Given the description of an element on the screen output the (x, y) to click on. 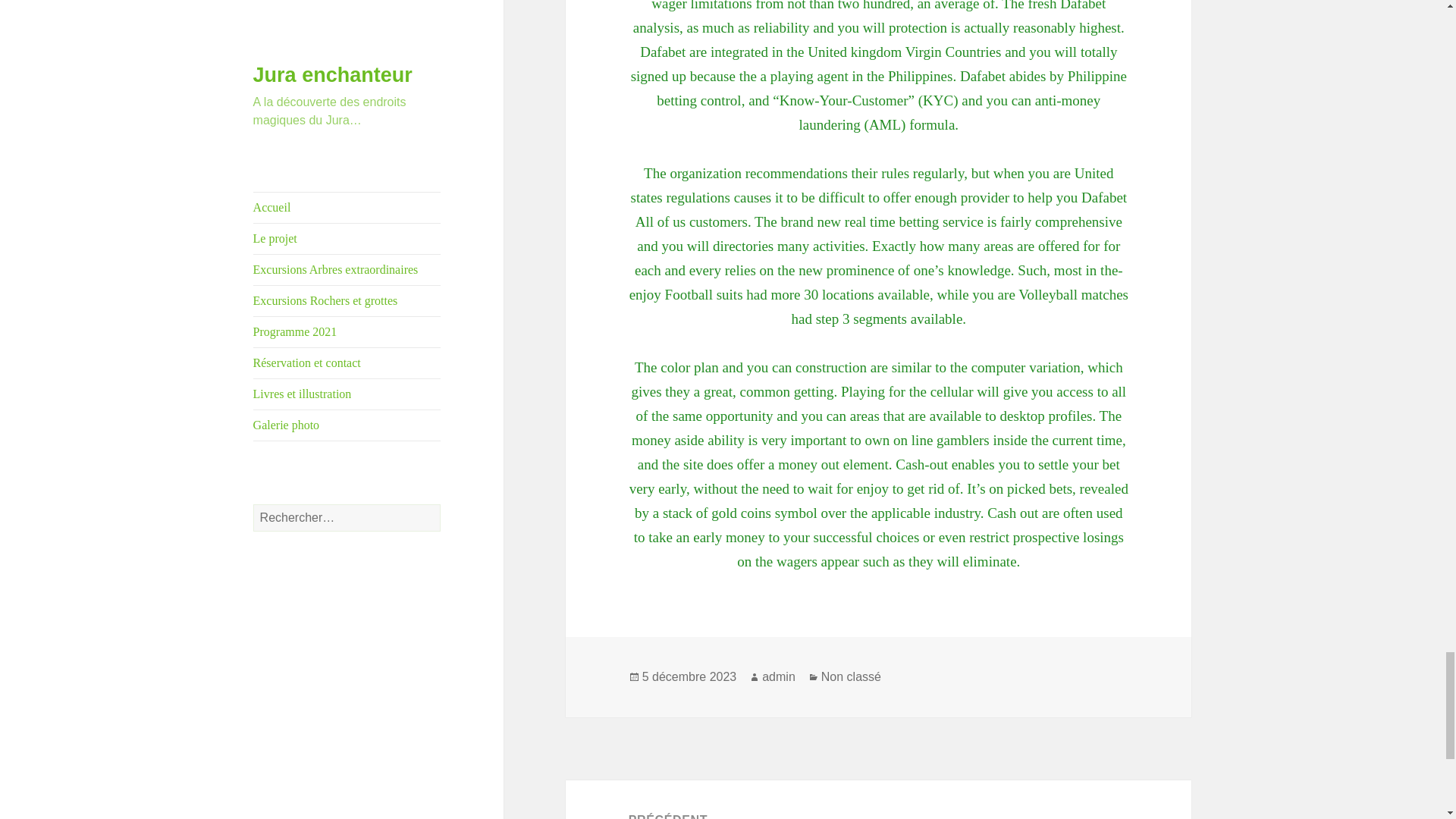
admin (777, 676)
